Given the description of an element on the screen output the (x, y) to click on. 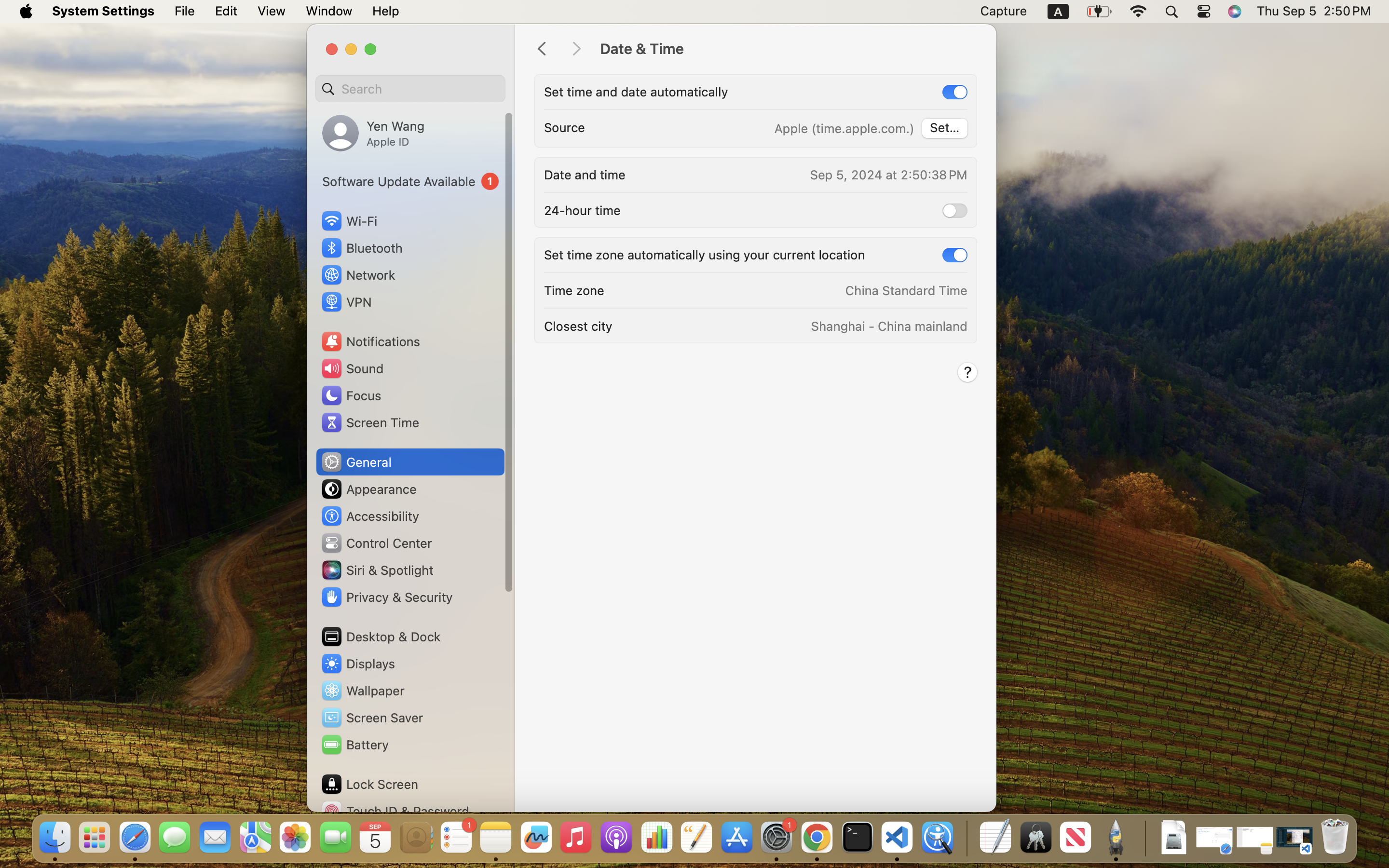
General Element type: AXStaticText (355, 461)
Sound Element type: AXStaticText (351, 367)
Battery Element type: AXStaticText (354, 744)
Time zone Element type: AXStaticText (574, 290)
1 Element type: AXCheckBox (954, 91)
